Given the description of an element on the screen output the (x, y) to click on. 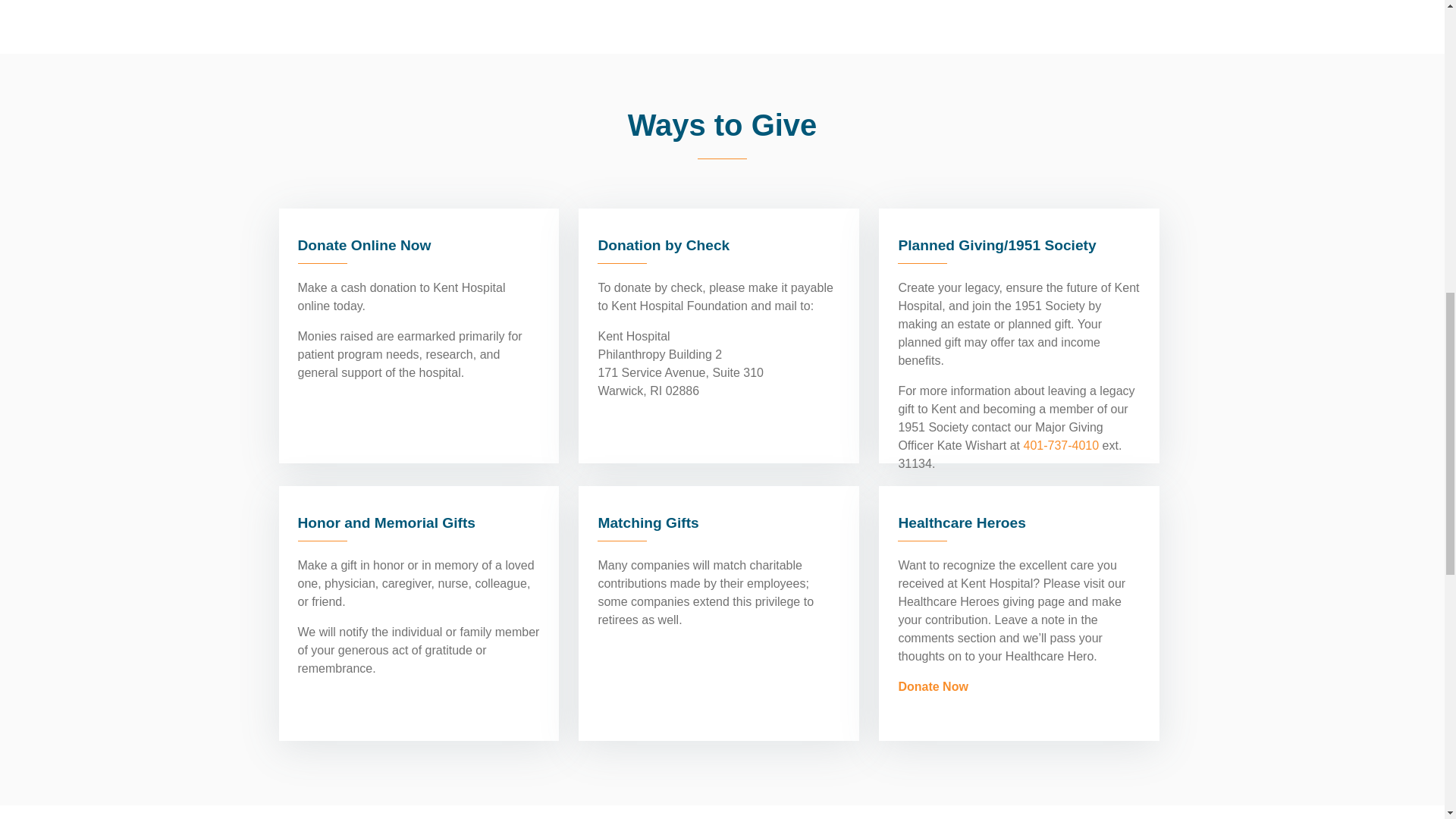
Donate Now (933, 686)
 401-737-4010 (1059, 445)
